Given the description of an element on the screen output the (x, y) to click on. 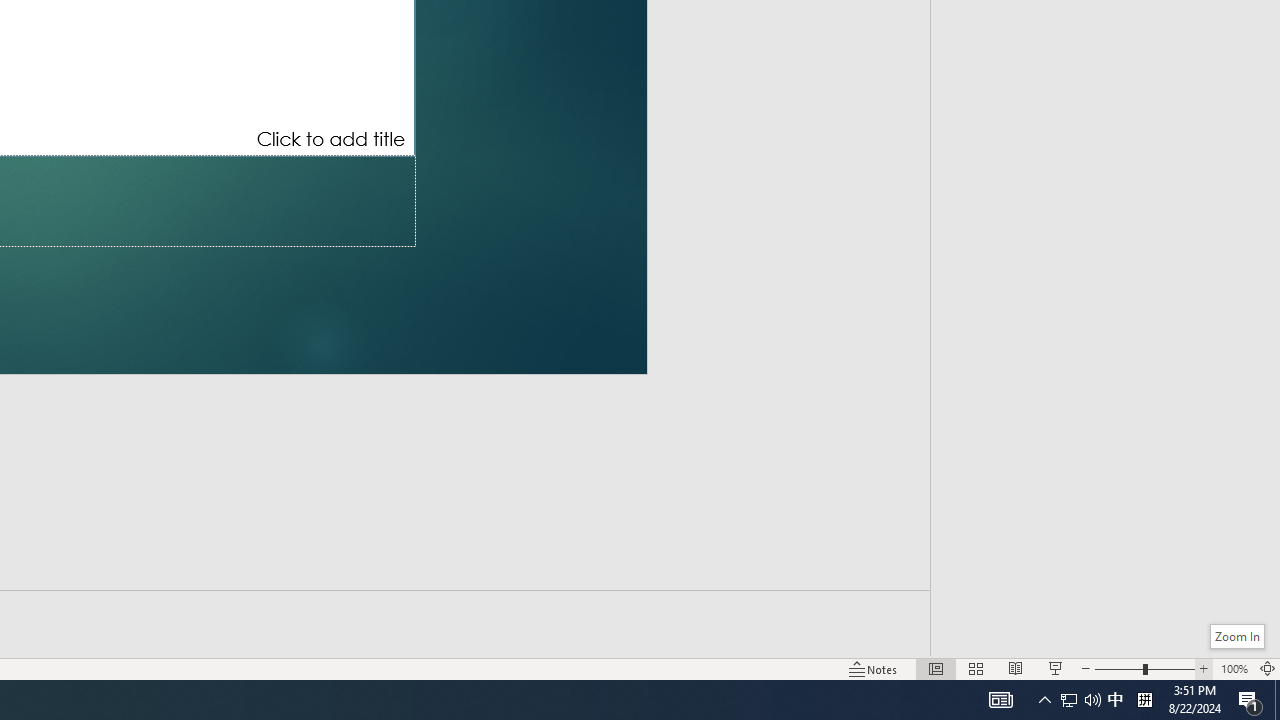
Slide Sorter (975, 668)
Reading View (1015, 668)
Zoom (1144, 668)
Zoom In (1204, 668)
Zoom Out (1118, 668)
Notes  (874, 668)
Zoom 100% (1234, 668)
Slide Show (1055, 668)
Zoom In (1236, 636)
Zoom to Fit  (1267, 668)
Normal (936, 668)
